Given the description of an element on the screen output the (x, y) to click on. 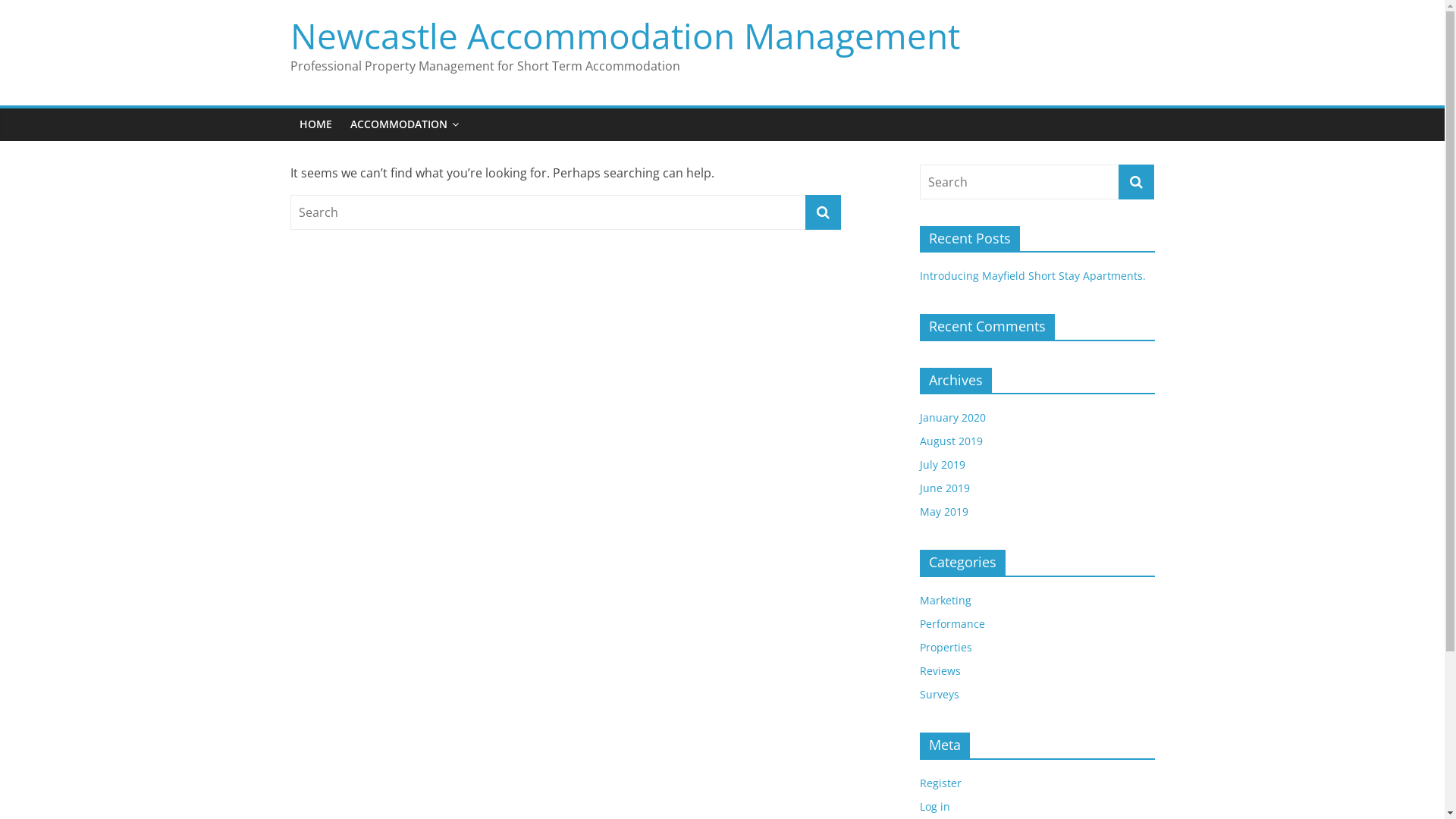
Surveys Element type: text (938, 694)
Log in Element type: text (934, 806)
Introducing Mayfield Short Stay Apartments. Element type: text (1032, 275)
Newcastle Accommodation Management Element type: text (624, 35)
Performance Element type: text (951, 623)
June 2019 Element type: text (944, 487)
Register Element type: text (939, 782)
May 2019 Element type: text (943, 511)
August 2019 Element type: text (950, 440)
July 2019 Element type: text (941, 464)
ACCOMMODATION Element type: text (404, 124)
January 2020 Element type: text (952, 417)
Marketing Element type: text (944, 600)
Properties Element type: text (945, 647)
HOME Element type: text (314, 124)
Reviews Element type: text (939, 670)
